Given the description of an element on the screen output the (x, y) to click on. 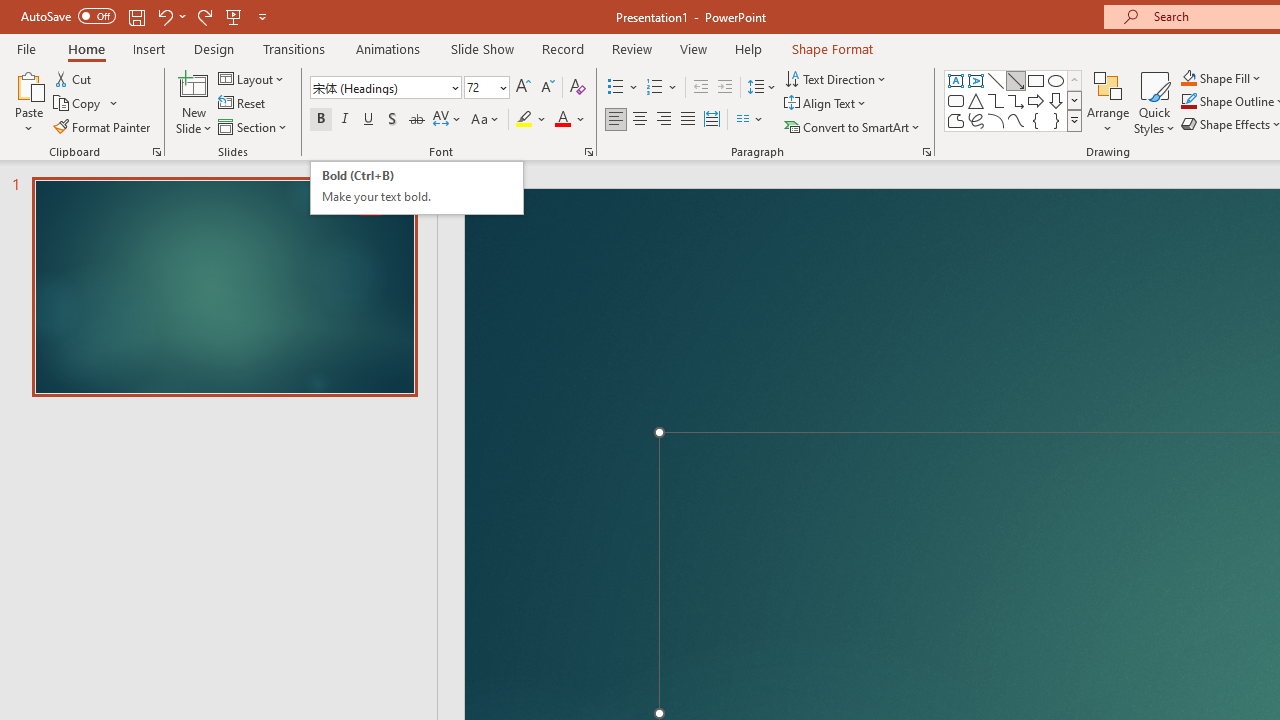
Left Brace (1035, 120)
New Slide (193, 102)
Align Right (663, 119)
Font... (588, 151)
Curve (1016, 120)
Center (639, 119)
Text Box (955, 80)
Paste (28, 84)
Convert to SmartArt (853, 126)
Shape Fill Orange, Accent 2 (1188, 78)
Isosceles Triangle (975, 100)
Rectangle (1035, 80)
